Given the description of an element on the screen output the (x, y) to click on. 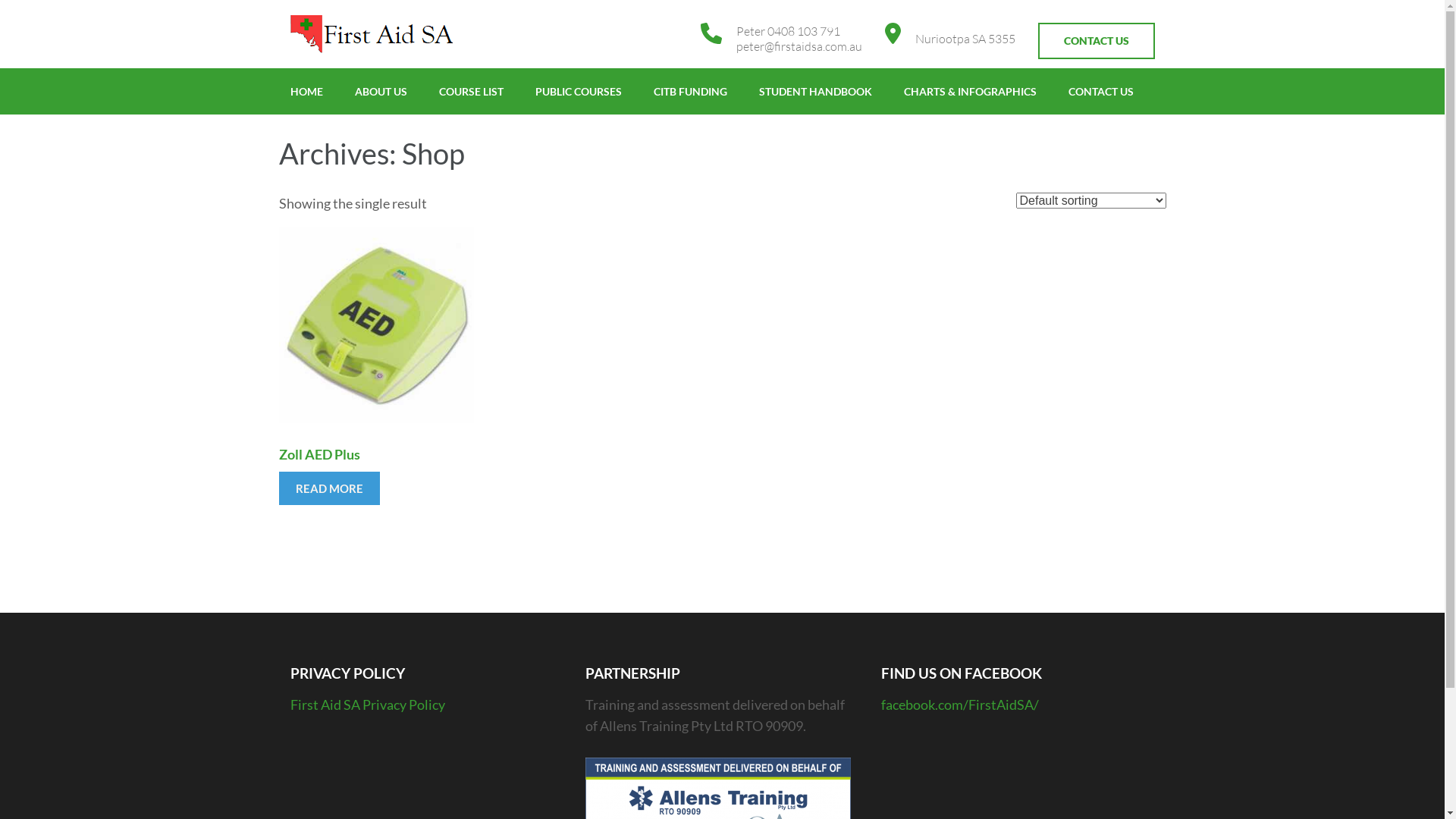
First Aid SA Element type: text (358, 66)
Peter 0408 103 791 Element type: text (798, 30)
Zoll AED Plus Element type: text (376, 361)
READ MORE Element type: text (329, 488)
HOME Element type: text (305, 91)
ABOUT US Element type: text (380, 91)
CONTACT US Element type: text (1095, 40)
CHARTS & INFOGRAPHICS Element type: text (969, 91)
First Aid SA Privacy Policy Element type: text (366, 704)
facebook.com/FirstAidSA/ Element type: text (959, 704)
CITB FUNDING Element type: text (690, 91)
STUDENT HANDBOOK Element type: text (814, 91)
COURSE LIST Element type: text (470, 91)
peter@firstaidsa.com.au Element type: text (798, 45)
PUBLIC COURSES Element type: text (578, 91)
CONTACT US Element type: text (1099, 91)
